Given the description of an element on the screen output the (x, y) to click on. 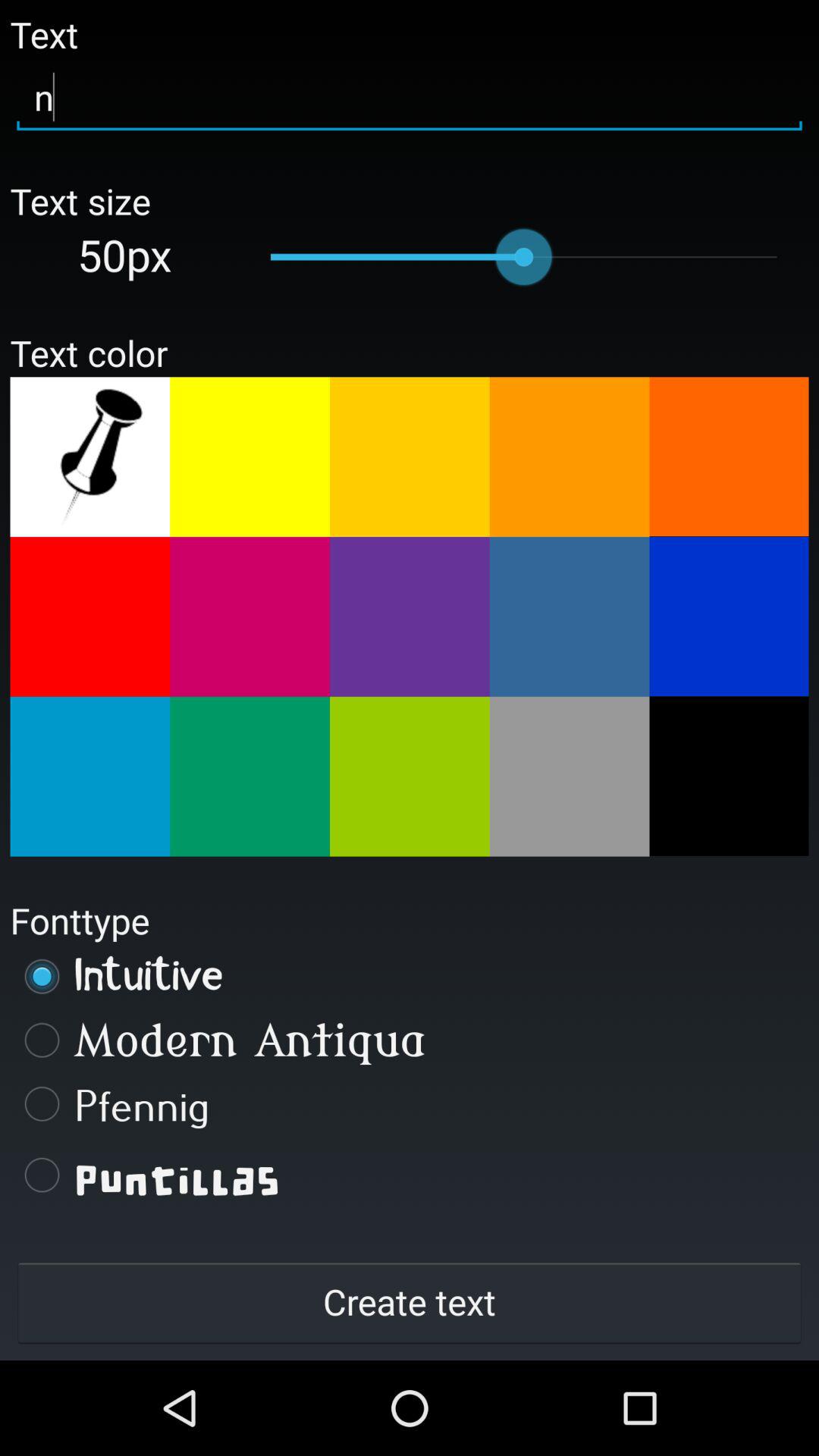
select yellow (249, 456)
